Given the description of an element on the screen output the (x, y) to click on. 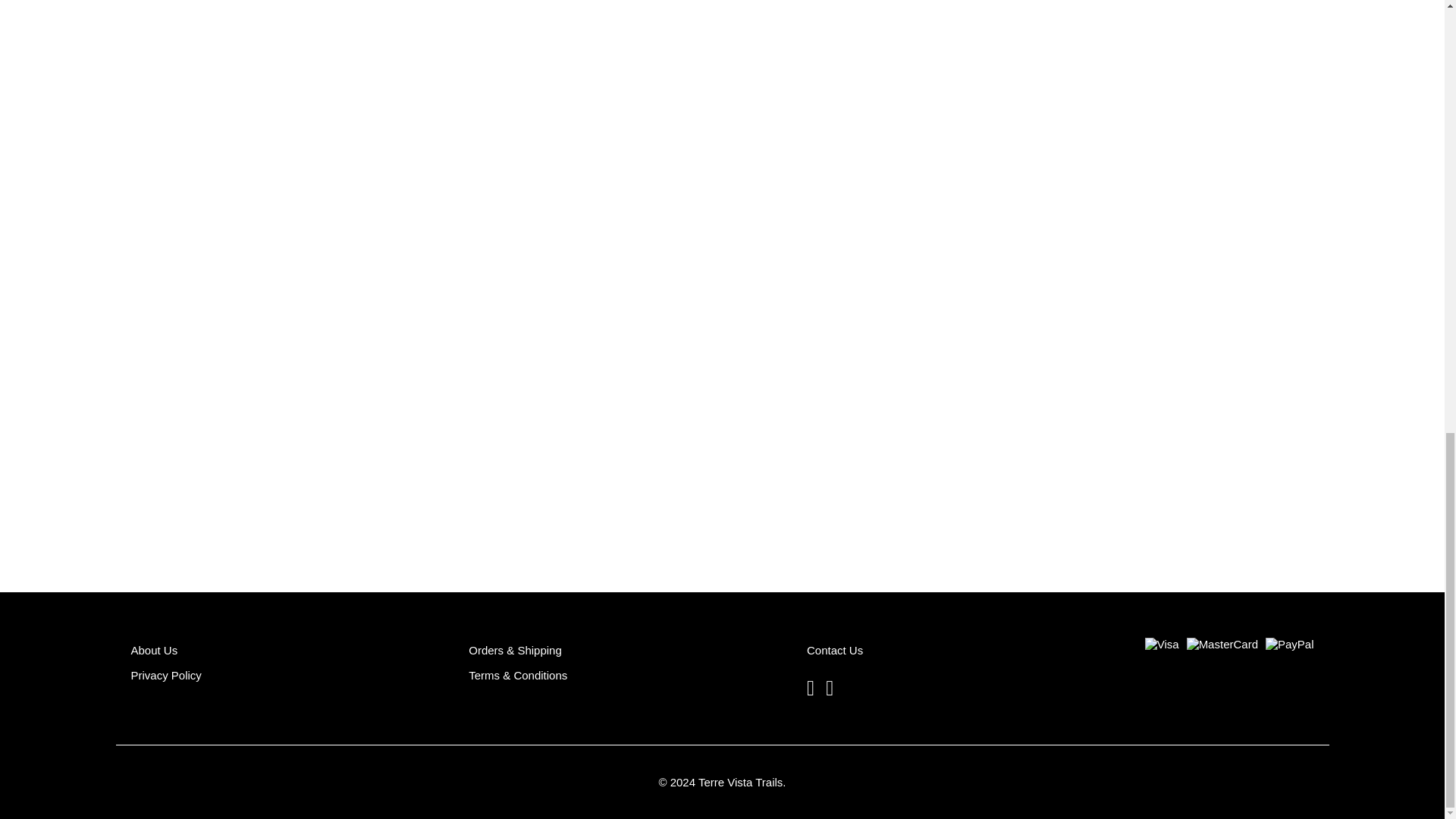
About Us (154, 649)
Contact Us (834, 649)
Privacy Policy (165, 675)
